Given the description of an element on the screen output the (x, y) to click on. 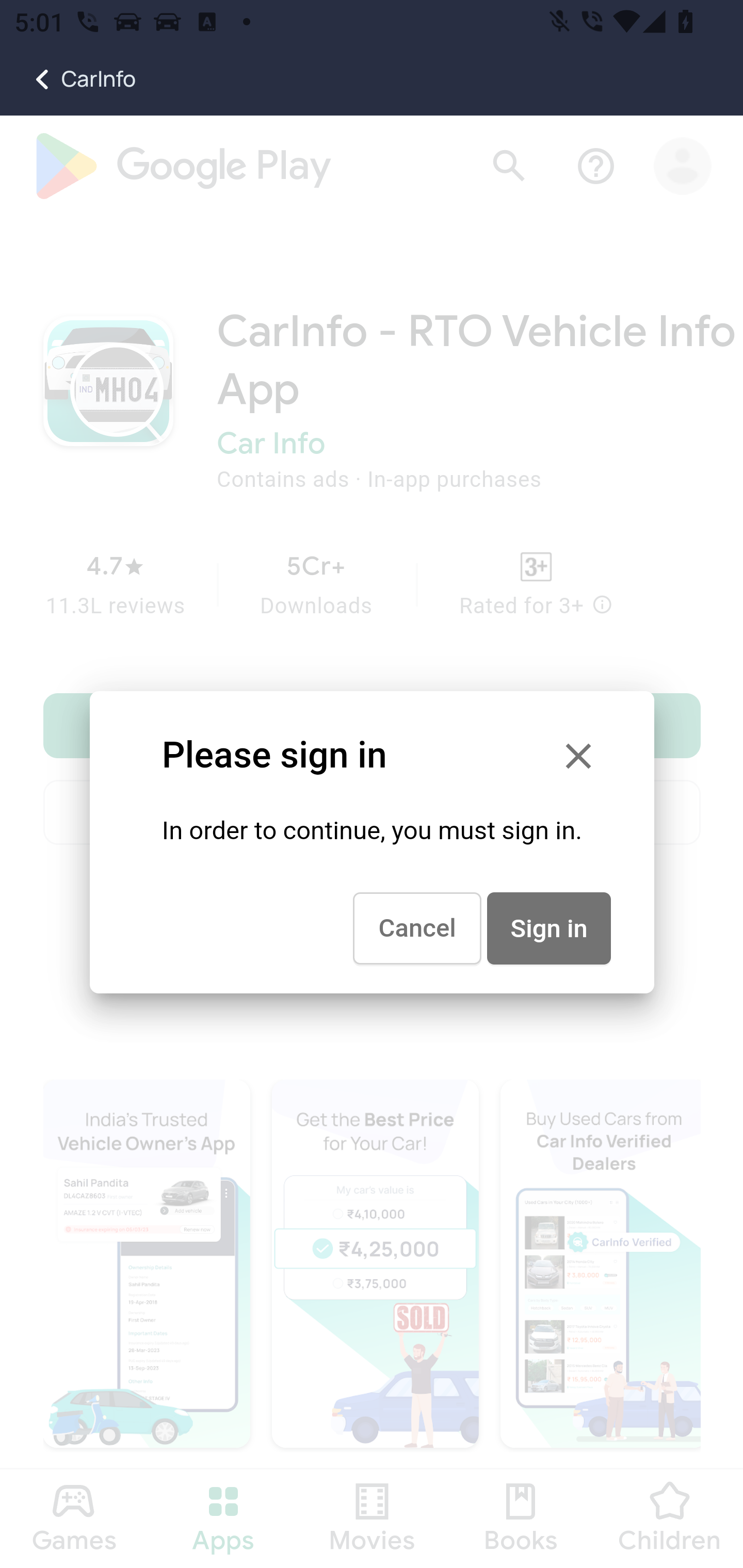
CarInfo (67, 79)
Close (578, 755)
Cancel (417, 928)
Sign in (548, 928)
